Given the description of an element on the screen output the (x, y) to click on. 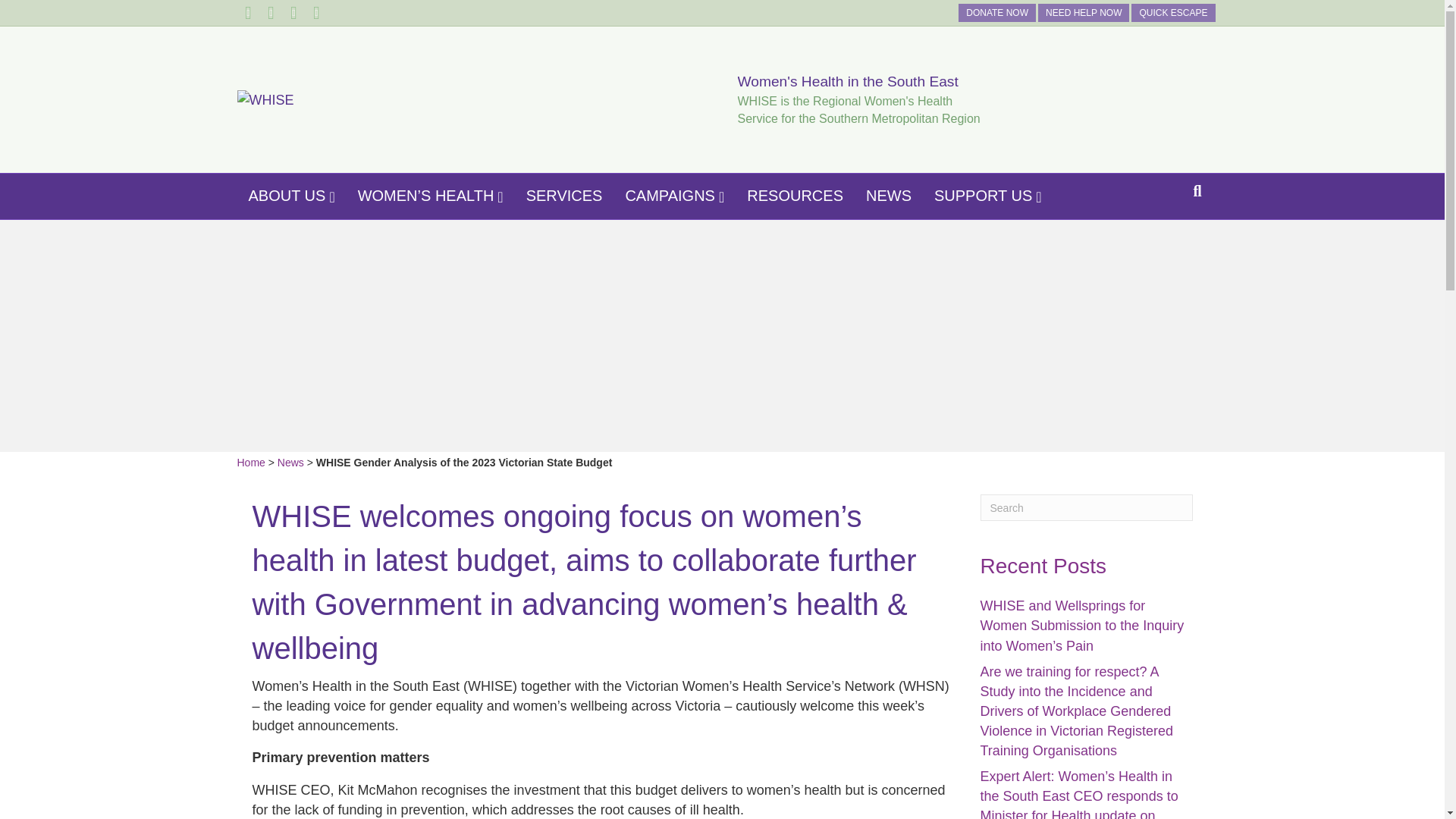
DONATE NOW (996, 13)
Linkedin (270, 13)
NEED HELP NOW (1083, 13)
QUICK ESCAPE (1172, 13)
Facebook (247, 13)
ABOUT US (290, 196)
Instagram (315, 13)
Youtube (293, 13)
